Given the description of an element on the screen output the (x, y) to click on. 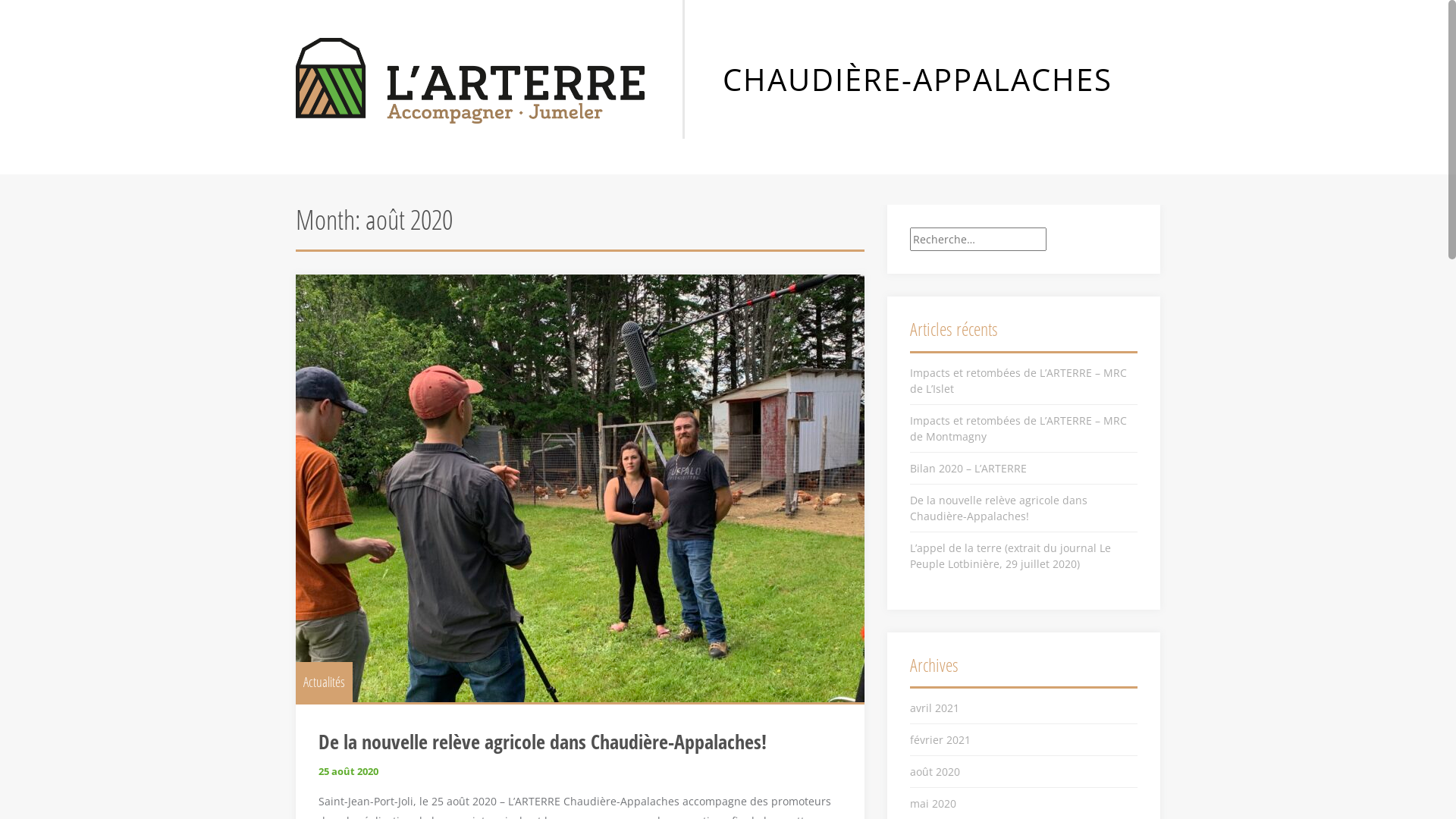
Rechercher Element type: text (36, 11)
avril 2021 Element type: text (934, 707)
Skip to content Element type: text (0, 0)
mai 2020 Element type: text (933, 803)
